Given the description of an element on the screen output the (x, y) to click on. 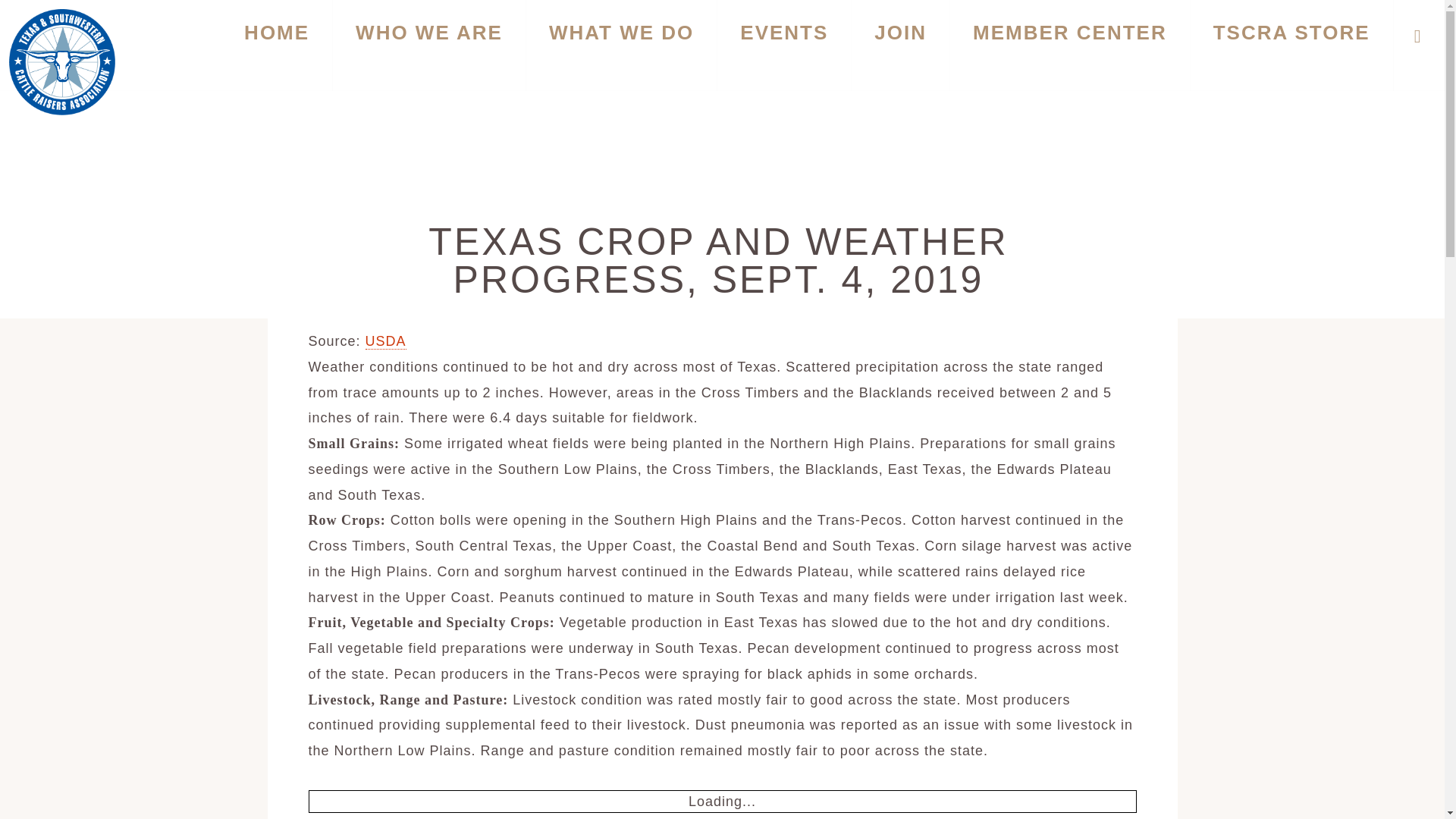
USDA (385, 341)
WHAT WE DO (620, 45)
TSCRA STORE (1292, 45)
JOIN (900, 45)
HOME (276, 45)
WHO WE ARE (429, 45)
EVENTS (783, 45)
MEMBER CENTER (1069, 45)
